Given the description of an element on the screen output the (x, y) to click on. 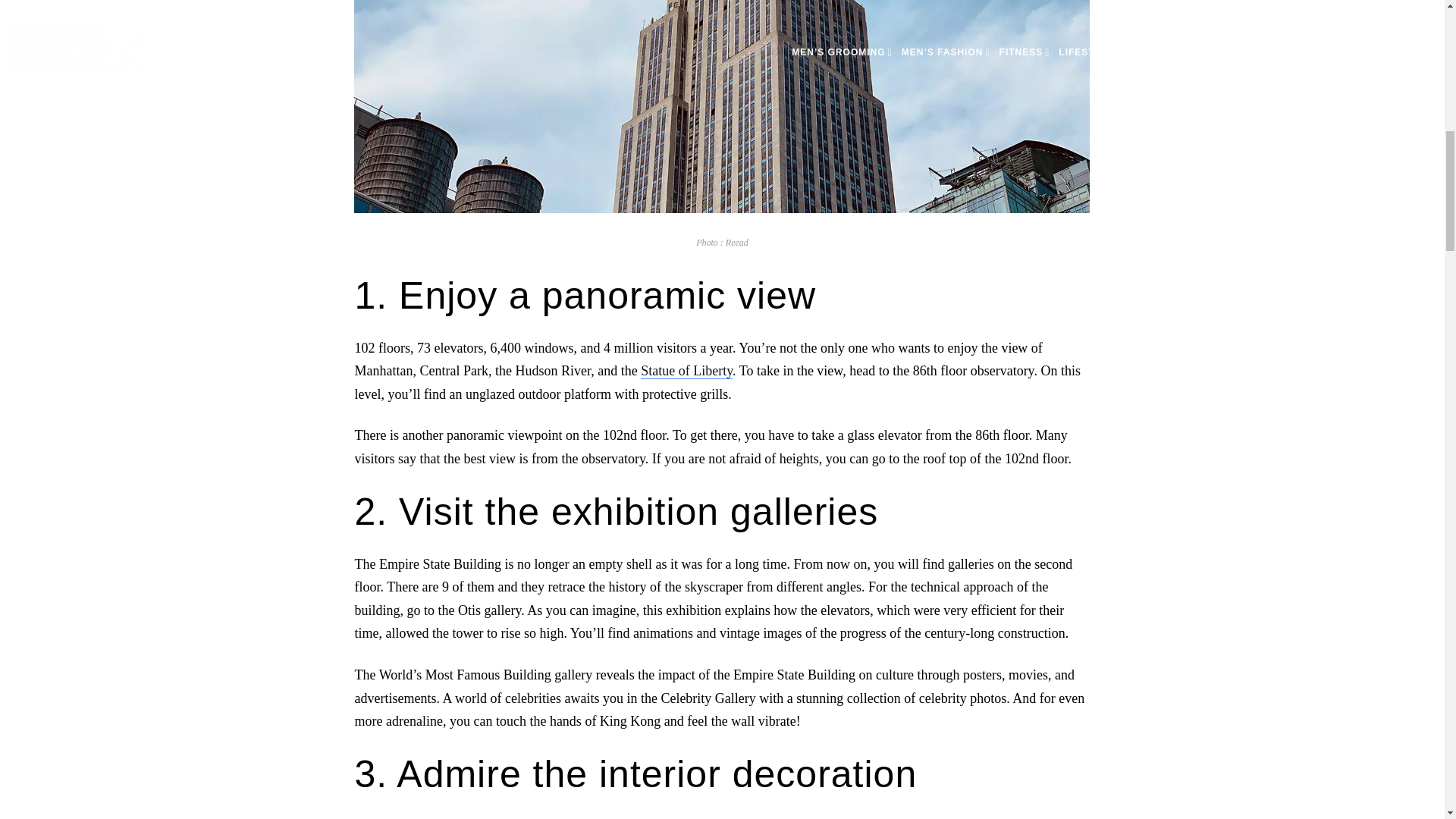
Statue of Liberty (686, 371)
